Given the description of an element on the screen output the (x, y) to click on. 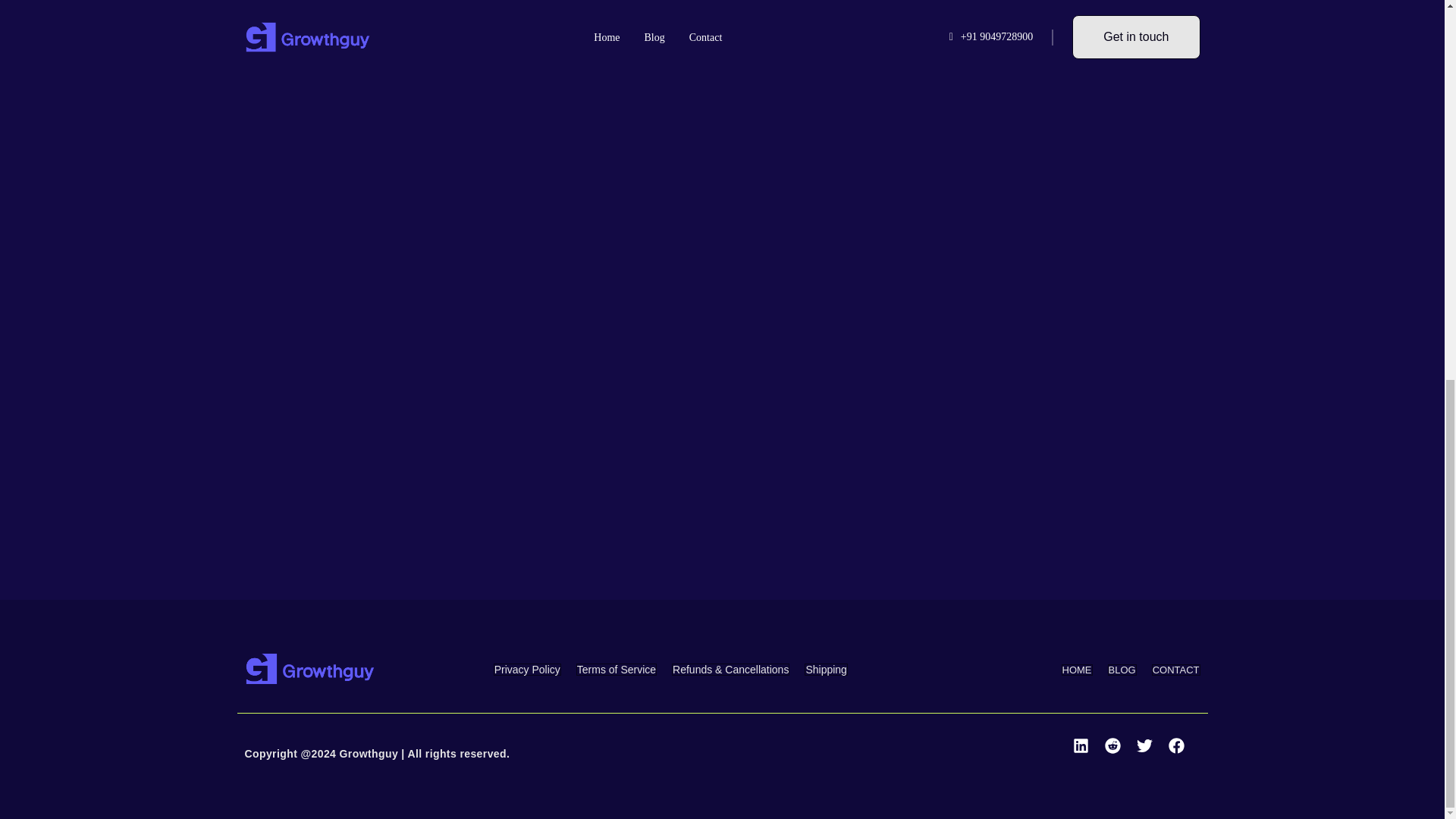
CONTACT (1175, 669)
Terms of Service (616, 669)
Shipping (826, 669)
HOME (1077, 669)
BLOG (1120, 669)
Privacy Policy (526, 669)
